Given the description of an element on the screen output the (x, y) to click on. 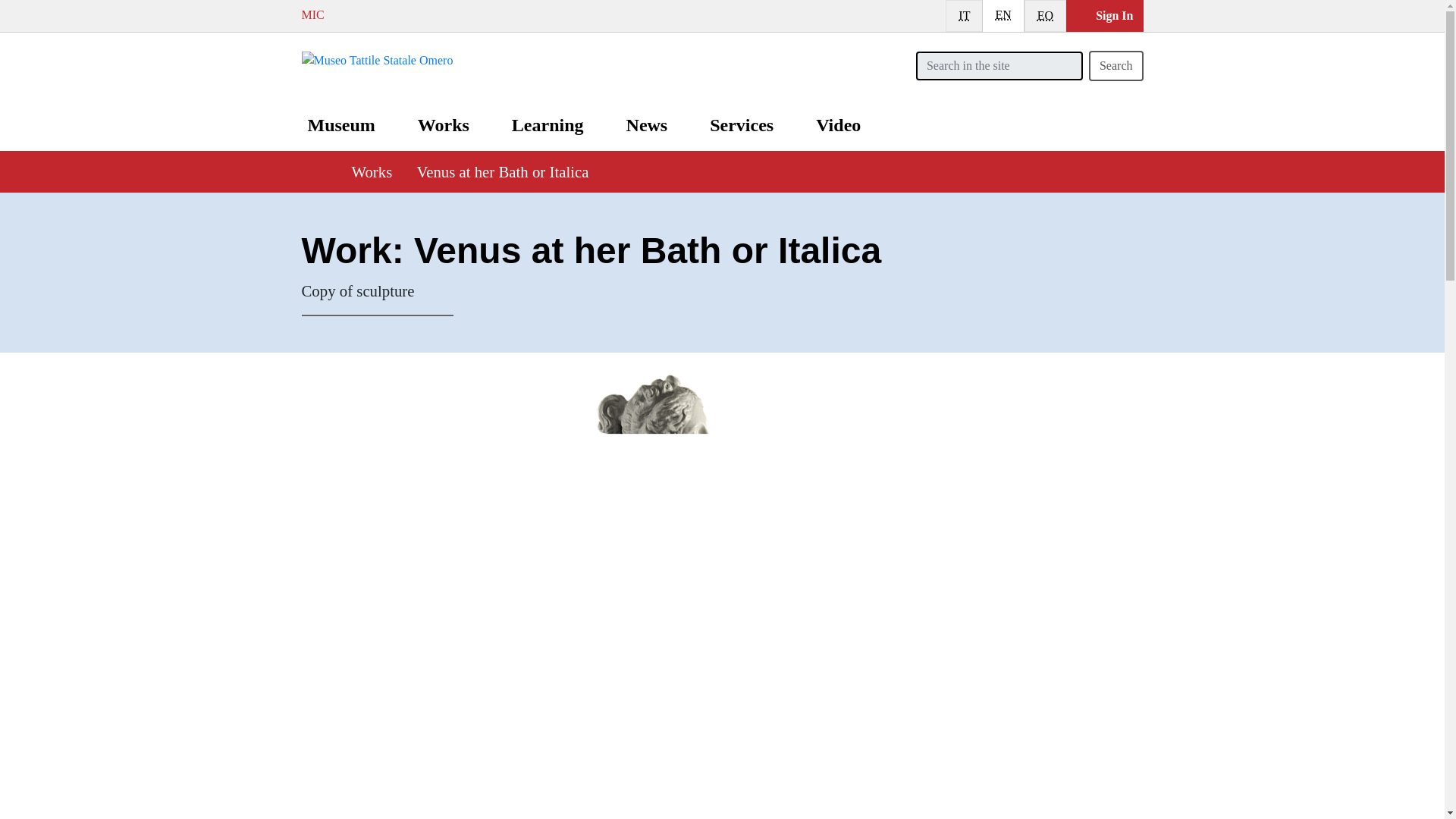
Search (1115, 65)
Esperanto (1045, 15)
Italiano (963, 15)
Learning (1045, 15)
Home (547, 124)
Works (312, 168)
Home (444, 124)
English (376, 59)
Video (1002, 15)
